Given the description of an element on the screen output the (x, y) to click on. 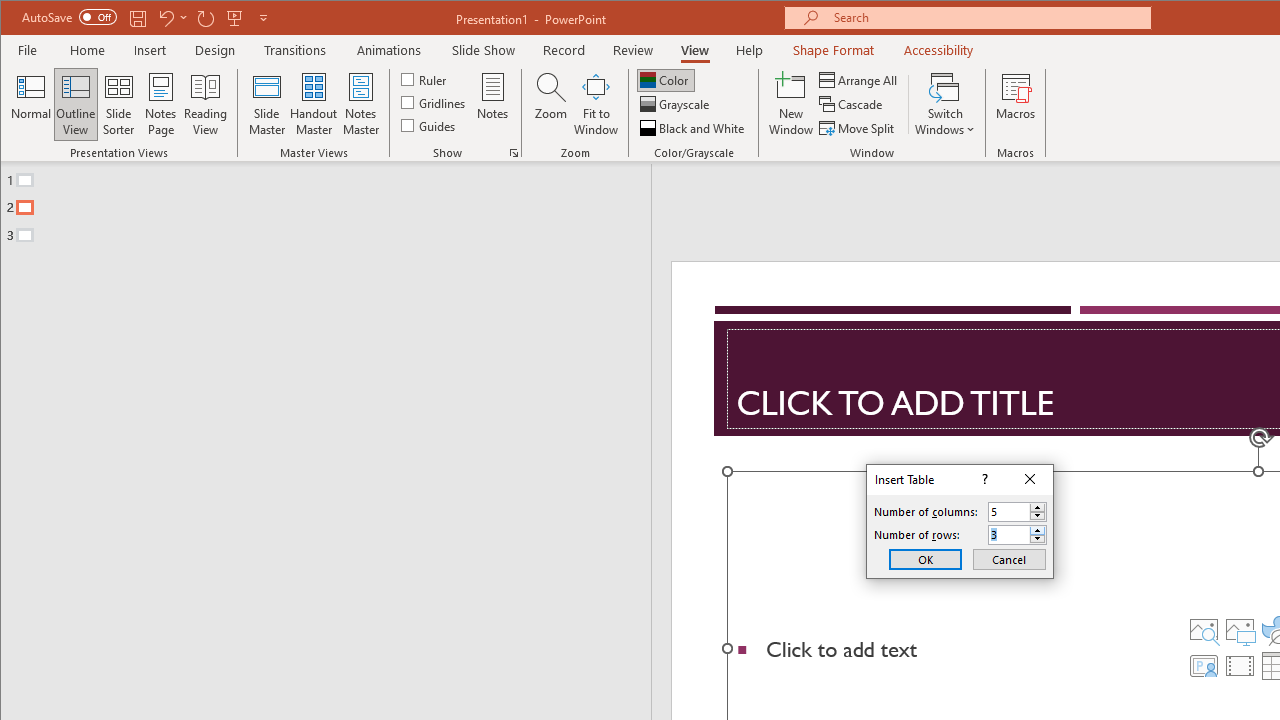
Zoom... (550, 104)
Outline (334, 203)
Move Split (858, 127)
Black and White (694, 127)
Color (666, 80)
Arrange All (859, 80)
Pictures (1239, 629)
Insert Cameo (1203, 665)
Number of columns (1017, 511)
